Given the description of an element on the screen output the (x, y) to click on. 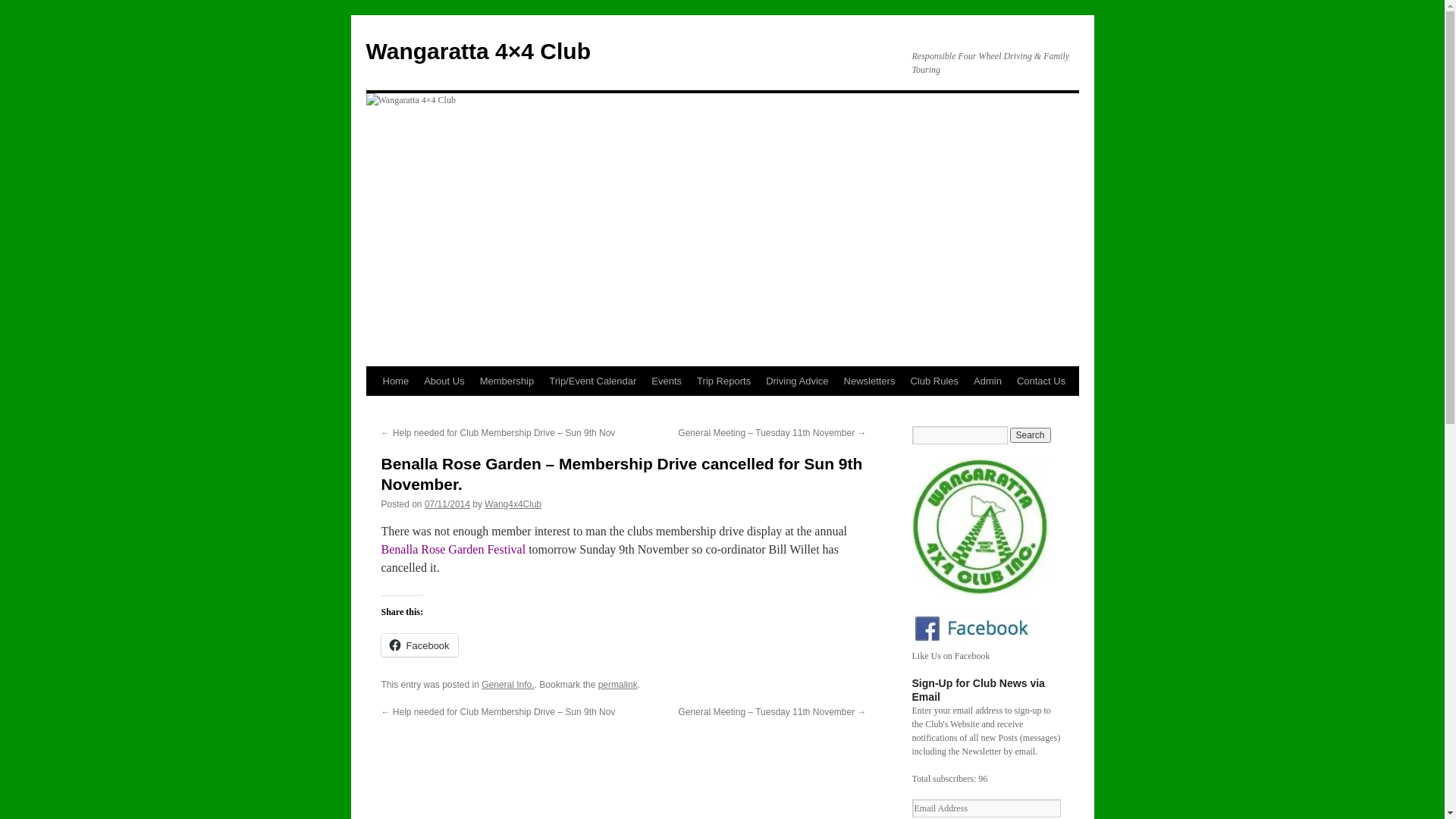
Facebook Element type: text (418, 644)
Home Element type: text (395, 381)
Admin Element type: text (987, 381)
Driving Advice Element type: text (796, 381)
permalink Element type: text (617, 684)
Wang4x4Club Element type: text (512, 503)
Events Element type: text (666, 381)
07/11/2014 Element type: text (447, 503)
Newsletters Element type: text (869, 381)
Club Rules Element type: text (934, 381)
Trip Reports Element type: text (723, 381)
Skip to content Element type: text (372, 409)
Contact Us Element type: text (1041, 381)
General Info. Element type: text (507, 684)
Search Element type: text (1030, 434)
Trip/Event Calendar Element type: text (592, 381)
About Us Element type: text (443, 381)
Membership Element type: text (507, 381)
